Given the description of an element on the screen output the (x, y) to click on. 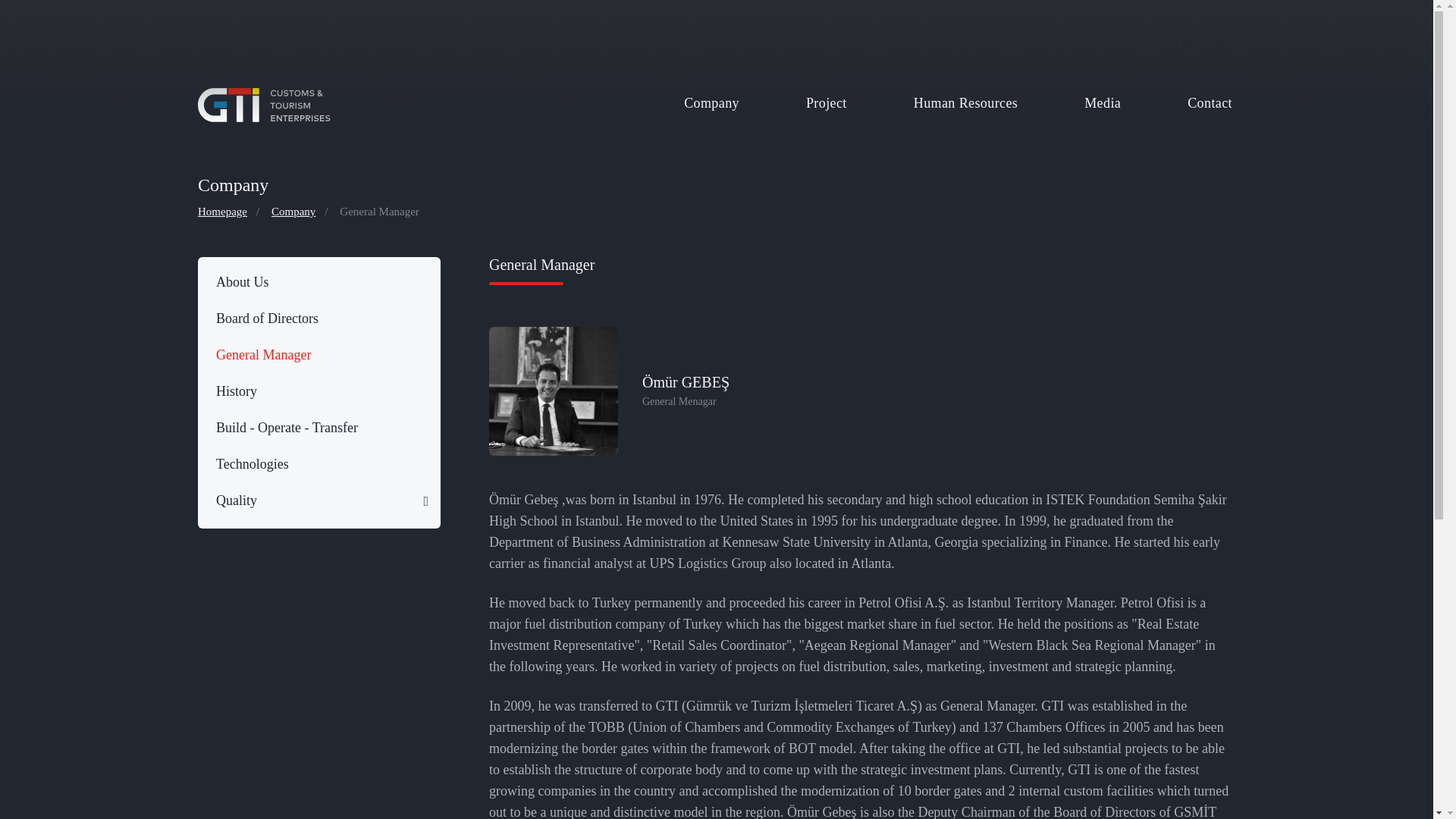
General Manager (379, 211)
History (315, 390)
Homepage (222, 211)
Human Resources (965, 102)
General Manager (315, 354)
About Us (315, 281)
Board of Directors (315, 317)
Project (825, 102)
Quality (315, 499)
Contact (1209, 102)
Company (292, 211)
Company (711, 102)
Media (1101, 102)
Build - Operate - Transfer (315, 427)
Technologies (315, 463)
